Given the description of an element on the screen output the (x, y) to click on. 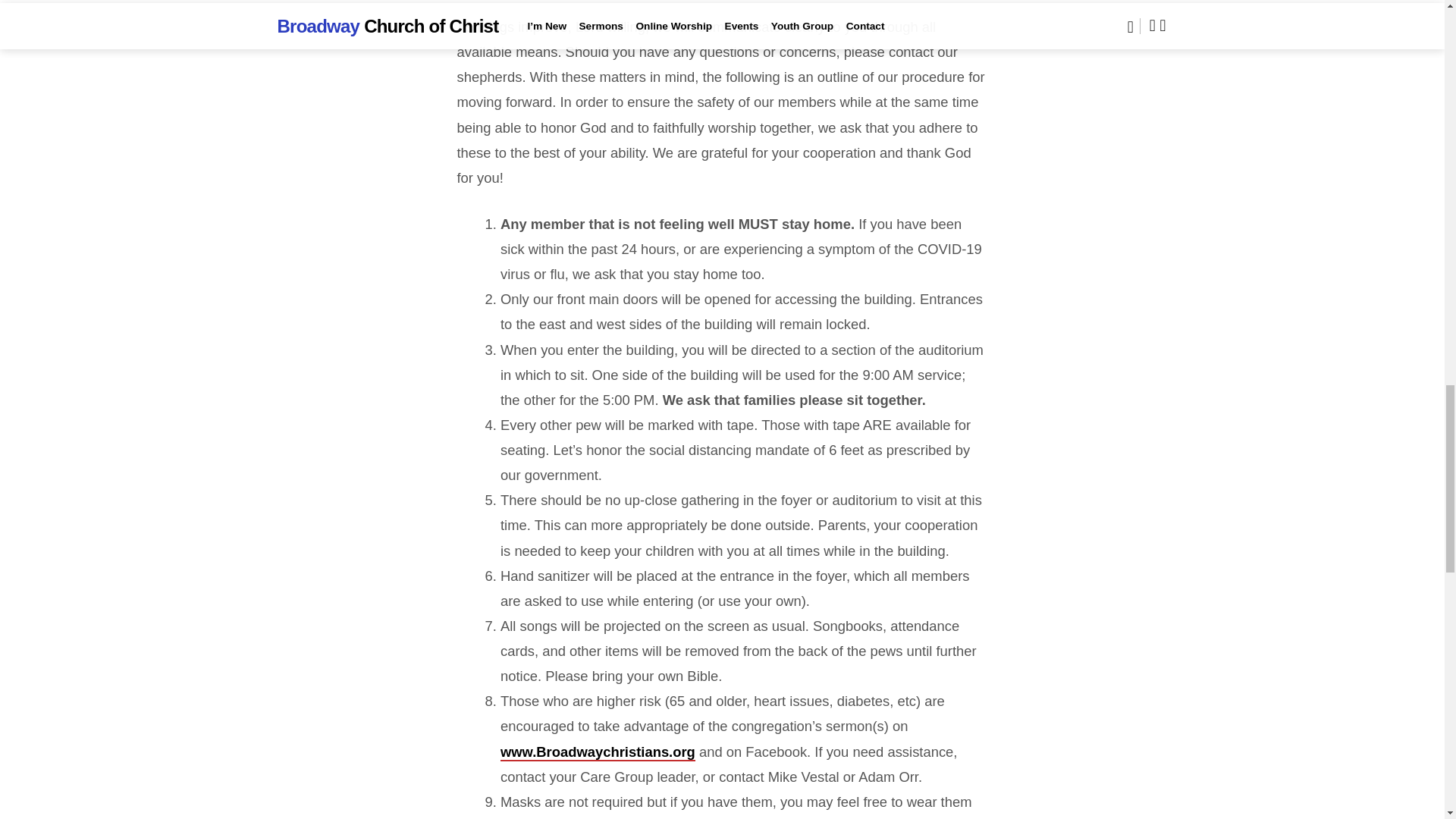
www.Broadwaychristians.org (597, 752)
